Given the description of an element on the screen output the (x, y) to click on. 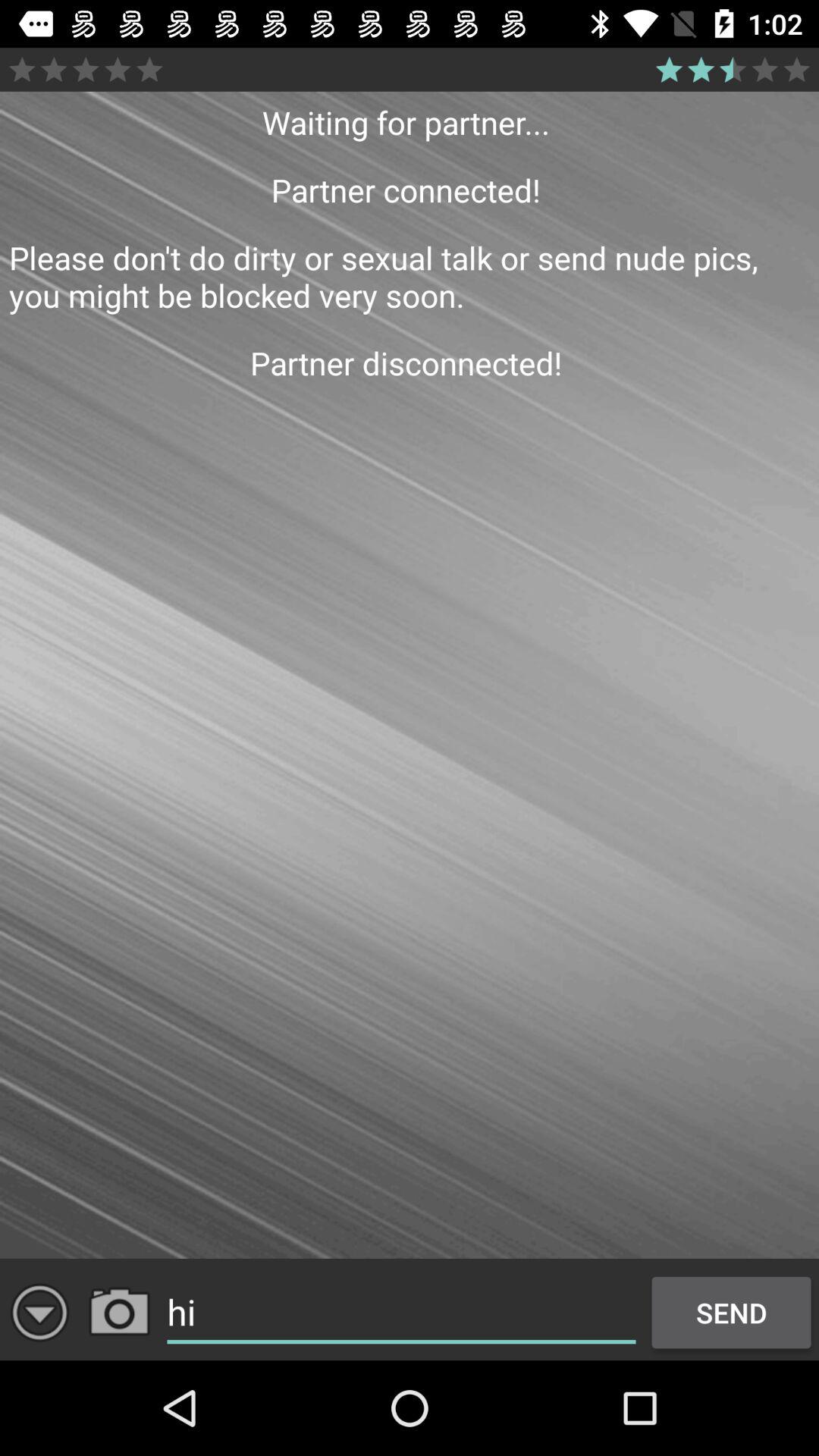
download (39, 1312)
